Given the description of an element on the screen output the (x, y) to click on. 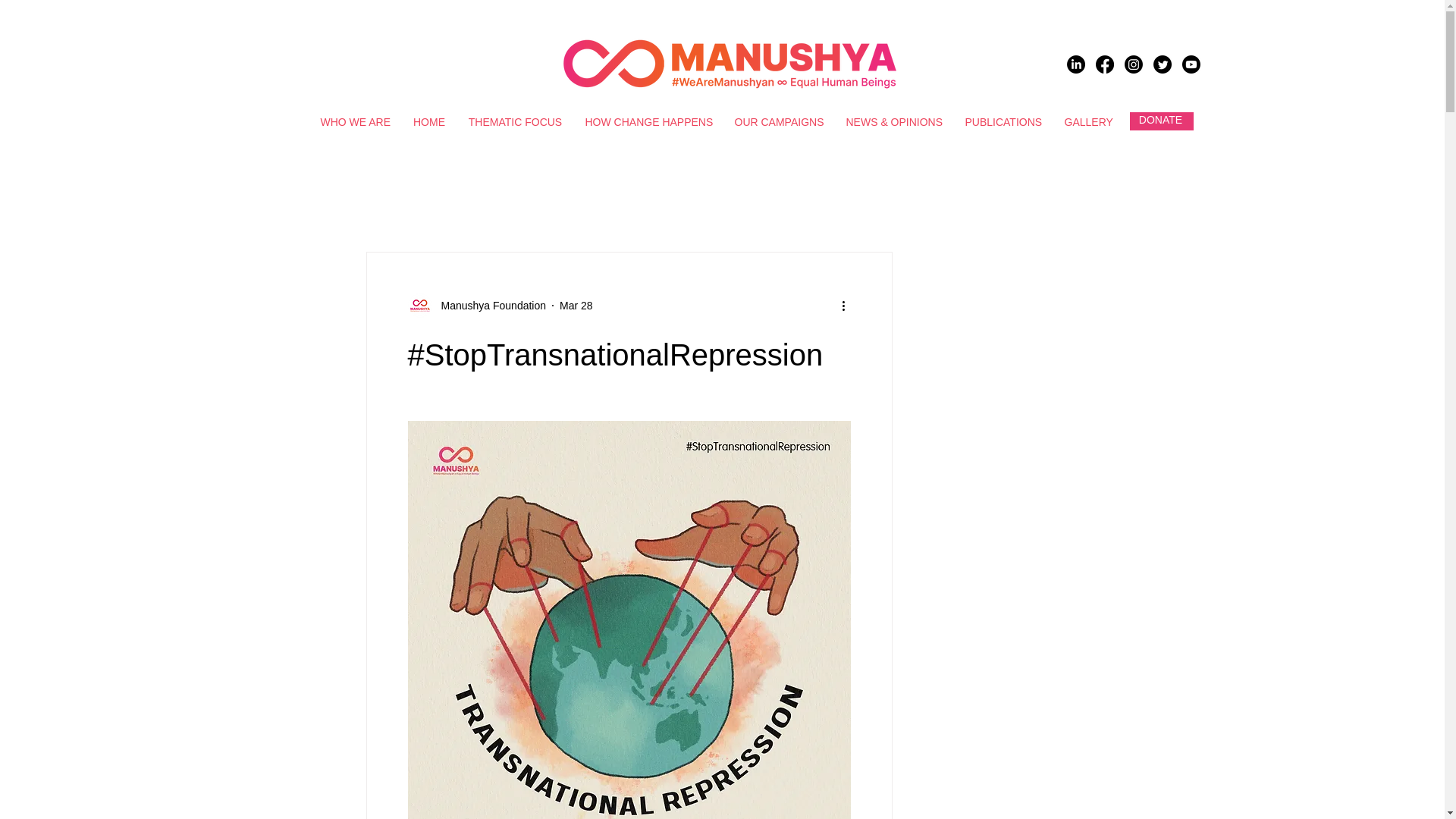
GALLERY (1088, 121)
THEMATIC FOCUS (515, 121)
WHO WE ARE (354, 121)
PUBLICATIONS (1002, 121)
Mar 28 (575, 304)
HOME (429, 121)
OUR CAMPAIGNS (778, 121)
HOW CHANGE HAPPENS (647, 121)
Manushya Foundation (489, 304)
